Given the description of an element on the screen output the (x, y) to click on. 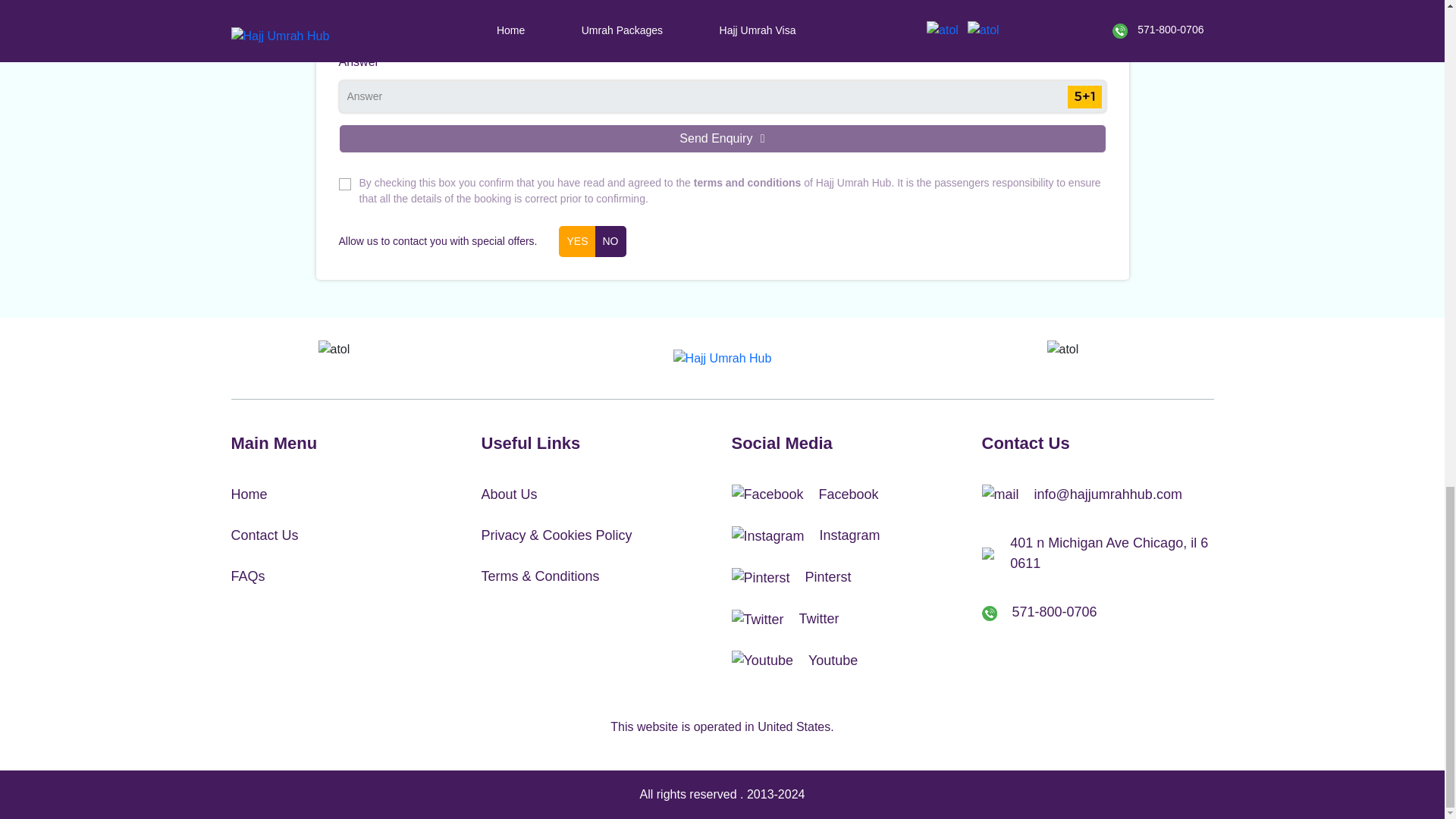
Instagram (846, 536)
Contact Us (346, 535)
571-800-0706 (1096, 611)
Twitter (846, 619)
1 (343, 184)
FAQs (346, 576)
Pinterst (846, 577)
terms and conditions (748, 182)
Send Enquiry (721, 138)
Youtube (846, 660)
Facebook (846, 495)
Home (346, 494)
About Us (596, 494)
